Given the description of an element on the screen output the (x, y) to click on. 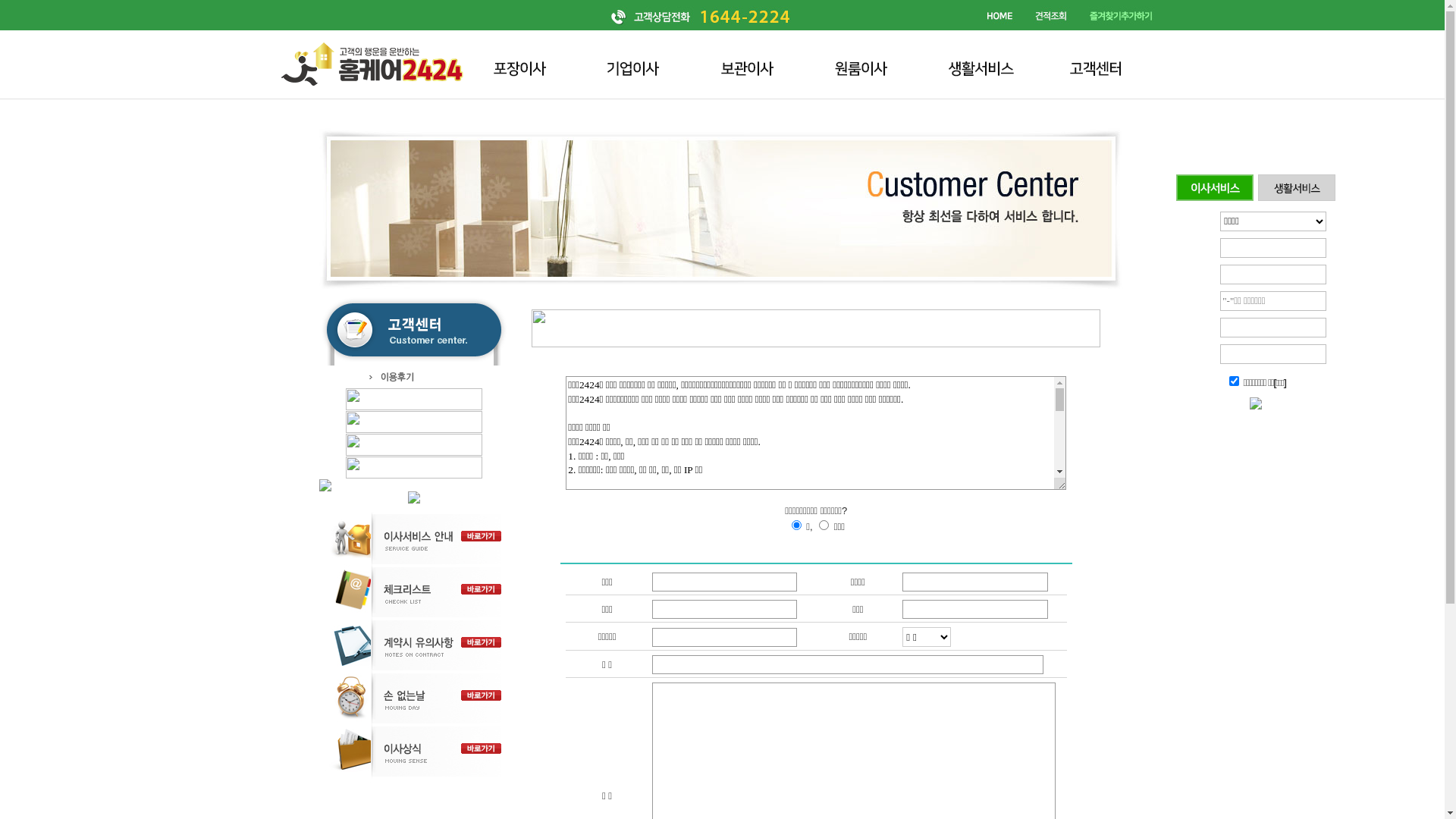
on Element type: text (4, 4)
